Given the description of an element on the screen output the (x, y) to click on. 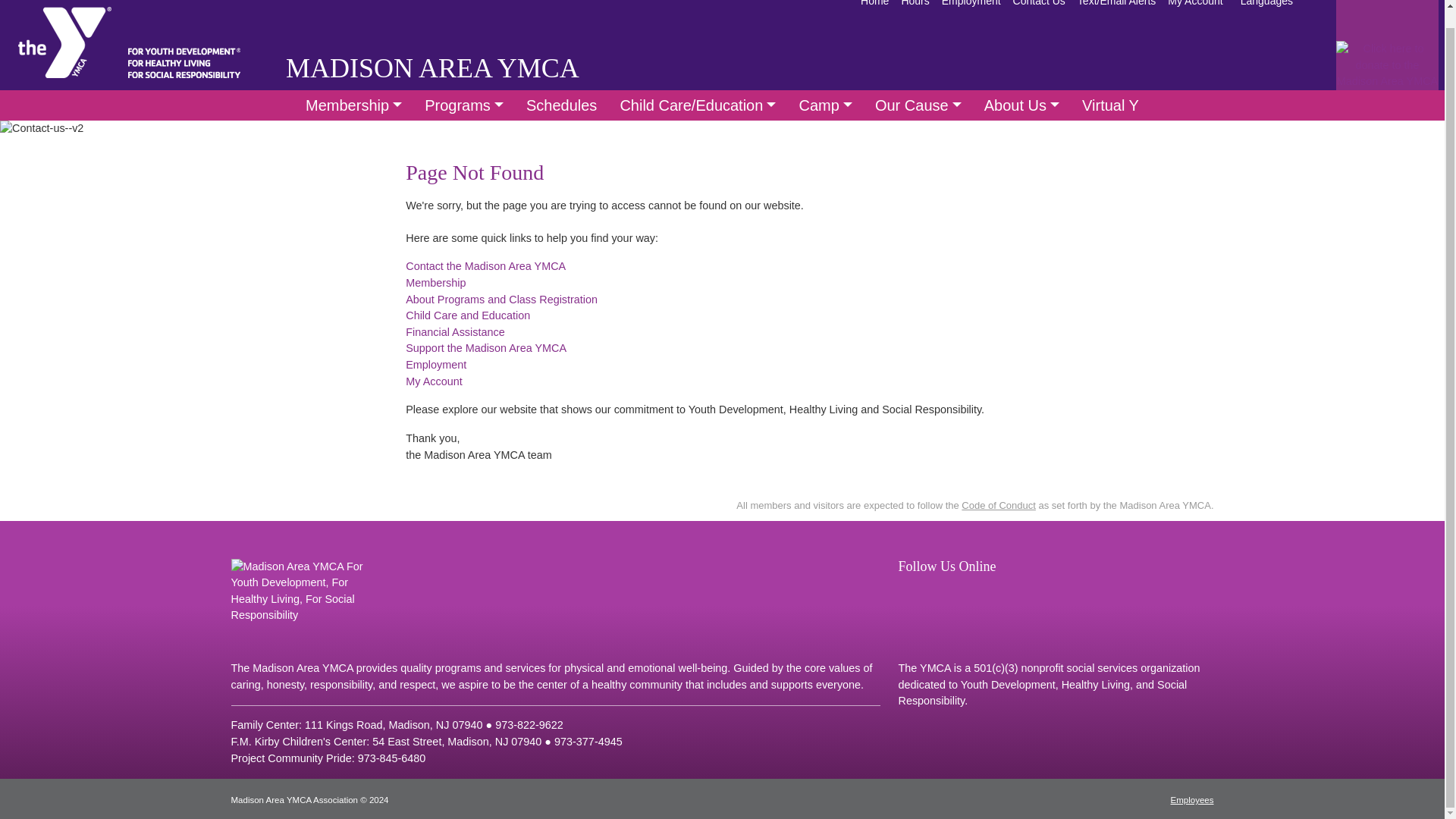
Membership (353, 105)
Programs (464, 105)
See us on YouTube (937, 595)
Contact-us--v2 (41, 128)
Hours (914, 8)
Home (874, 8)
Languages (1266, 8)
Go to home page (64, 41)
Employment (971, 8)
Go to our Facebook page (909, 595)
My Account (1194, 8)
Follow us on Instagram (966, 595)
Search button (1321, 3)
Contact Us (1039, 8)
